Given the description of an element on the screen output the (x, y) to click on. 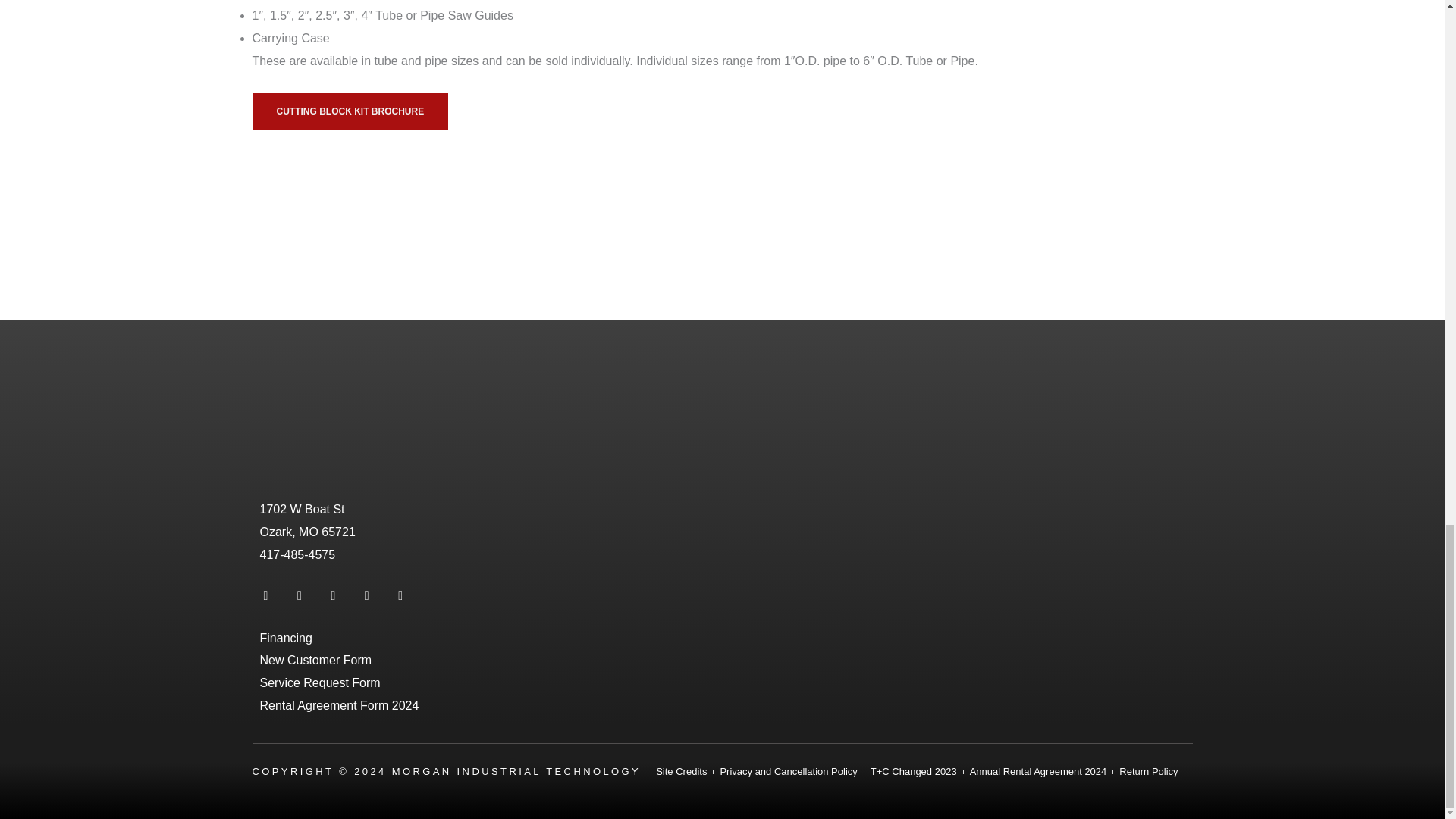
Form 0 (957, 530)
